Given the description of an element on the screen output the (x, y) to click on. 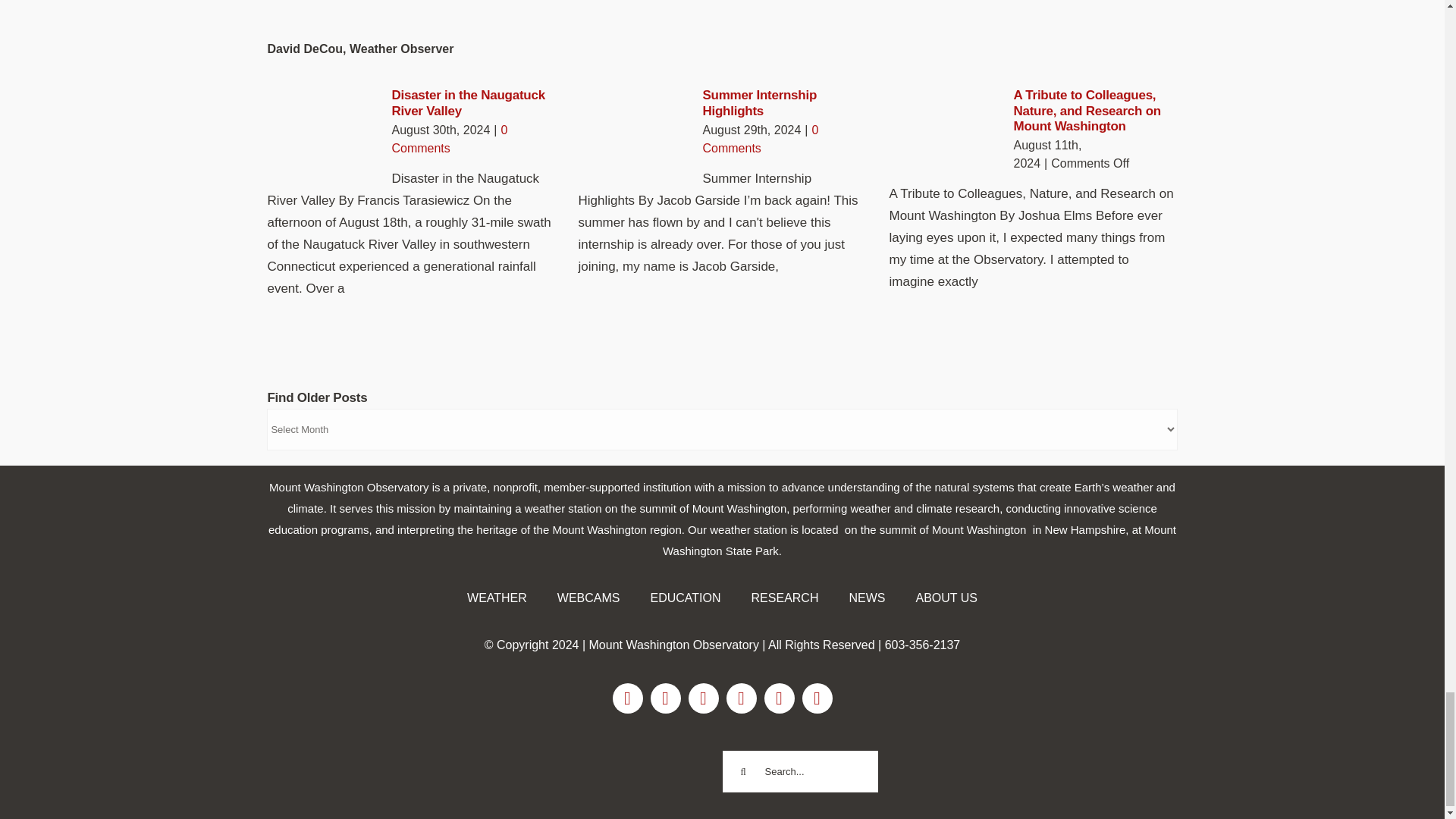
Facebook (627, 698)
Instagram (665, 698)
Twitter (703, 698)
Phone (817, 698)
YouTube (741, 698)
Email (779, 698)
